Given the description of an element on the screen output the (x, y) to click on. 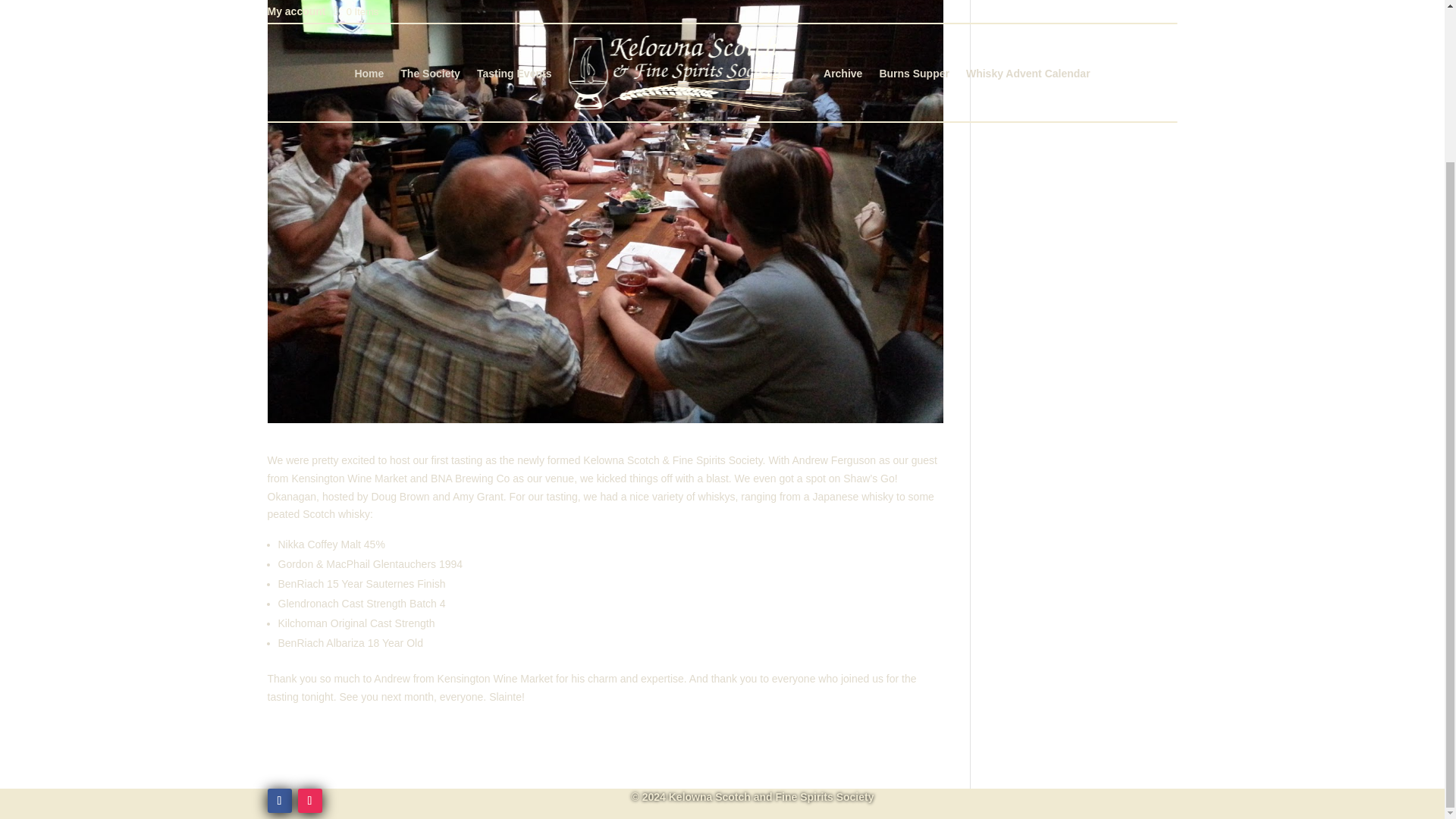
Follow on Facebook (278, 800)
Follow on Instagram (309, 800)
